Given the description of an element on the screen output the (x, y) to click on. 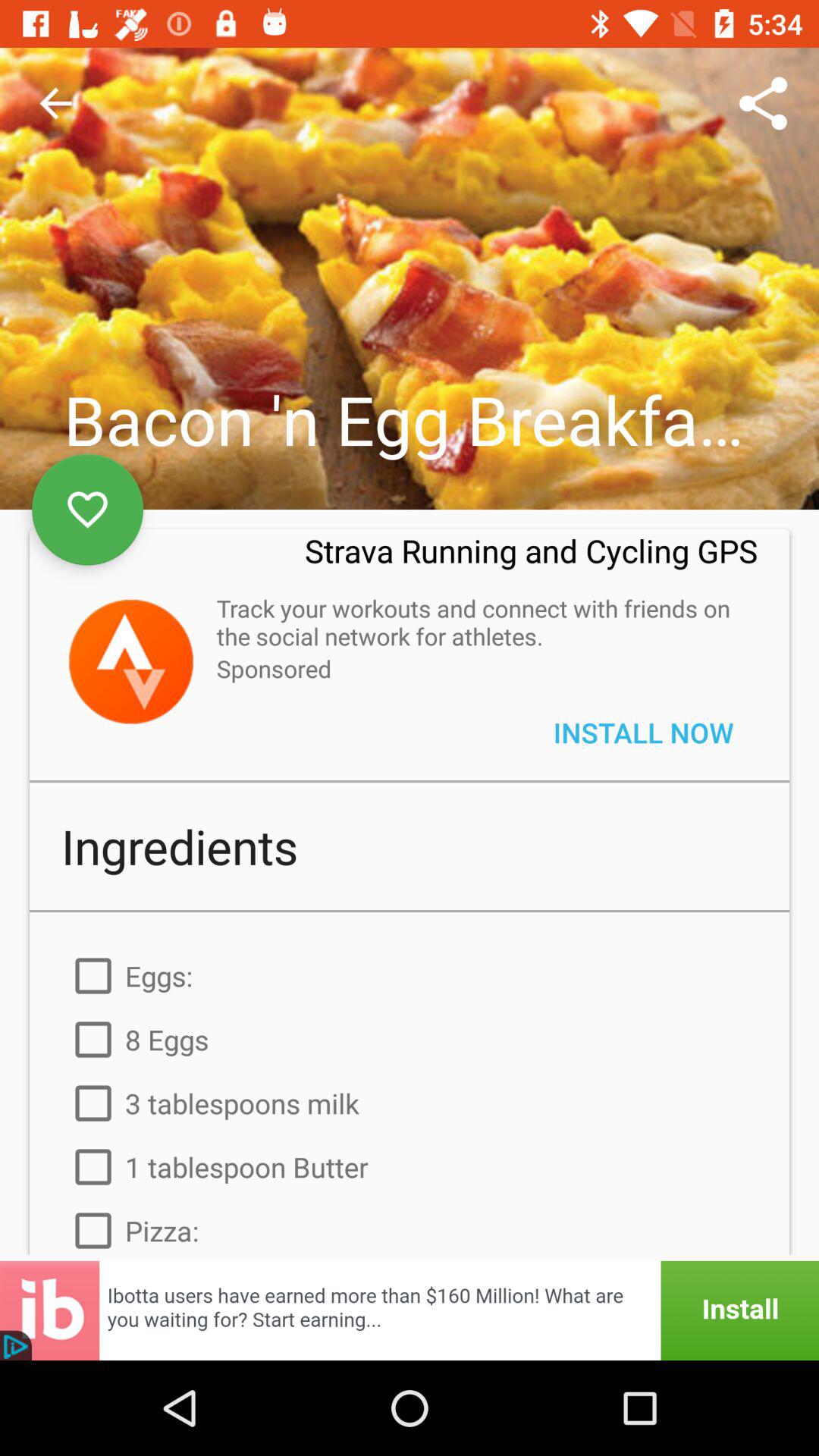
scroll until the track your workouts icon (478, 622)
